Given the description of an element on the screen output the (x, y) to click on. 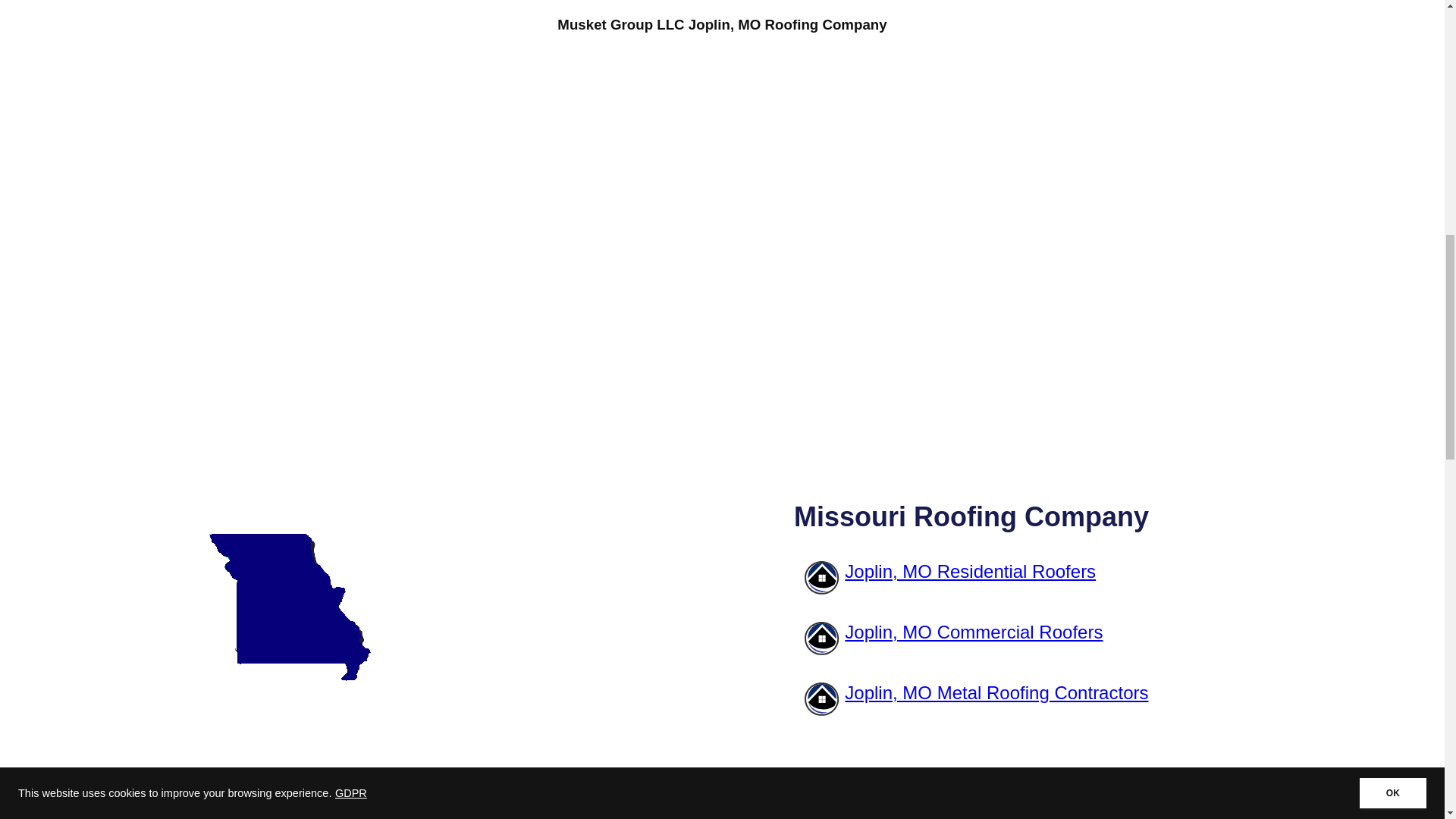
Joplin, MO Metal Roofing Contractors (1046, 694)
Joplin, MO Residential Roofers (1046, 573)
Joplin, MO Commercial Roofers (1046, 633)
